Given the description of an element on the screen output the (x, y) to click on. 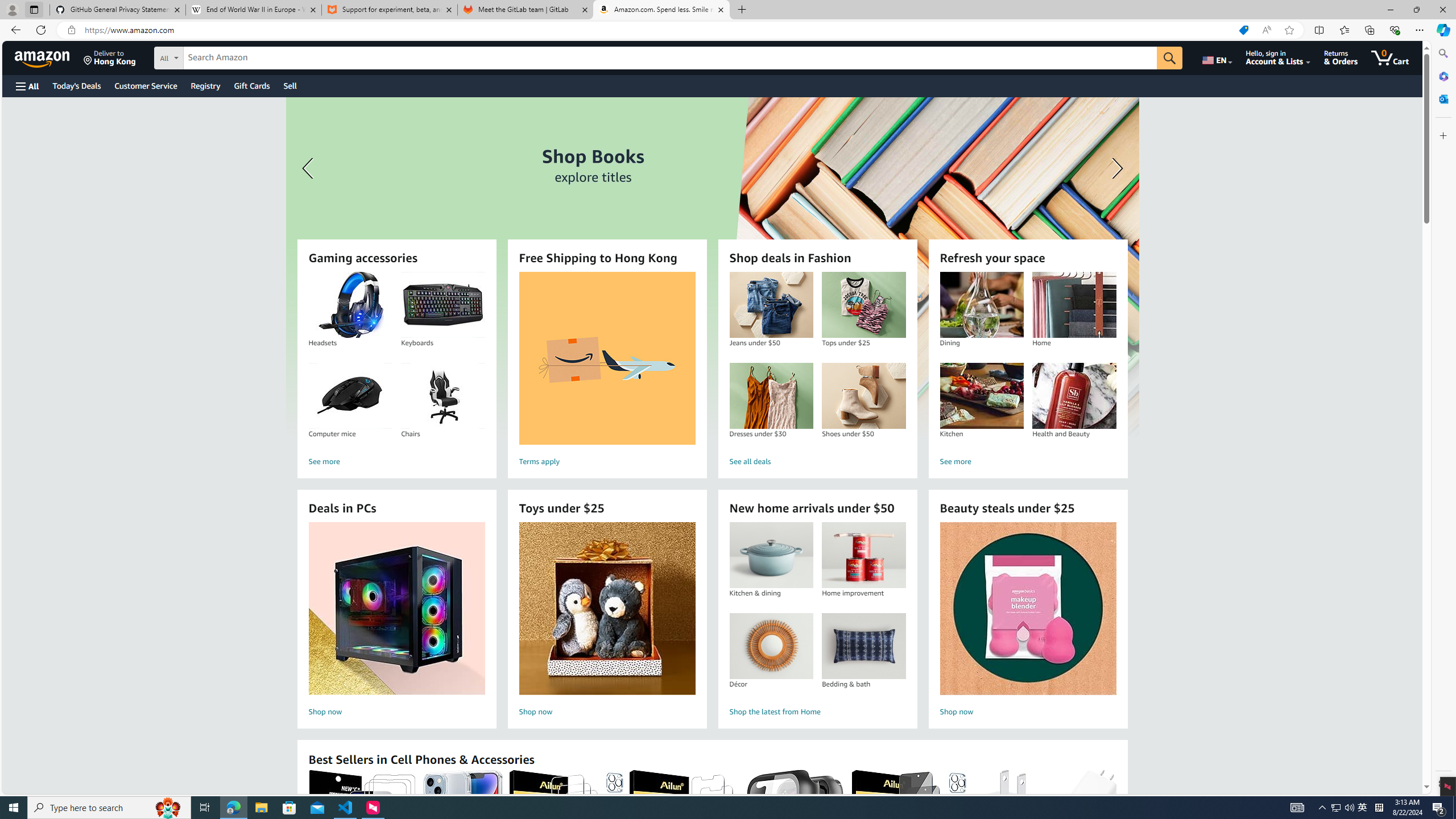
Bedding & bath (863, 645)
Tops under $25 (863, 304)
Bedding & bath (863, 645)
End of World War II in Europe - Wikipedia (253, 9)
Deals in PCs Shop now (396, 620)
Home improvement (863, 555)
Search Amazon (670, 57)
Deliver to Hong Kong (109, 57)
